Given the description of an element on the screen output the (x, y) to click on. 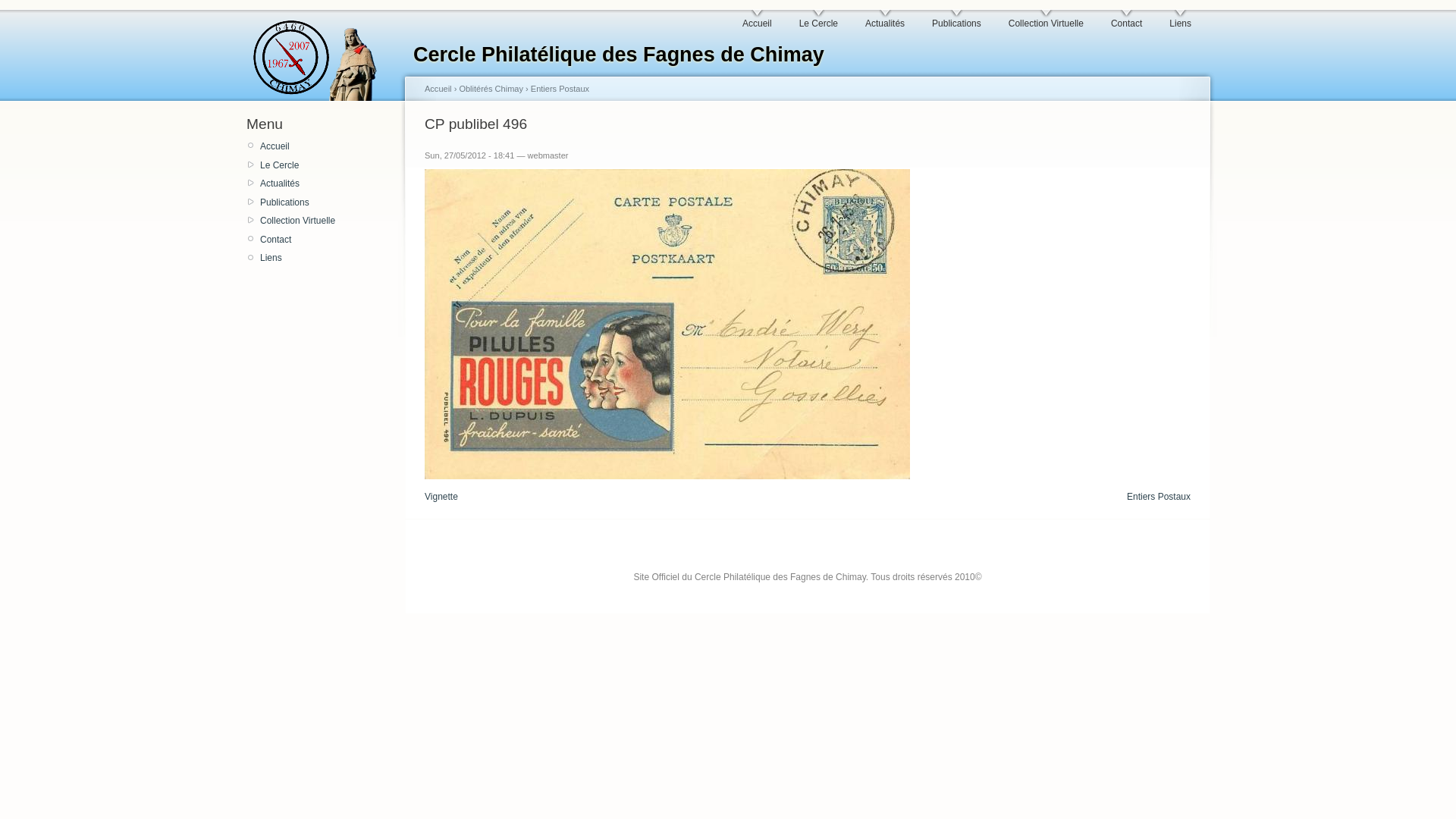
Contact Element type: text (1126, 20)
Collection Virtuelle Element type: text (327, 220)
Liens Element type: text (327, 257)
Liens Element type: text (1180, 20)
Le Cercle Element type: text (327, 164)
Collection Virtuelle Element type: text (1045, 20)
Publications Element type: text (327, 202)
Accueil Element type: text (327, 145)
Contact Element type: text (327, 239)
Entiers Postaux Element type: text (1158, 496)
CP publibel 496 Element type: hover (667, 324)
Entiers Postaux Element type: text (559, 88)
Accueil Element type: text (756, 20)
Le Cercle Element type: text (818, 20)
Vignette Element type: text (441, 496)
Publications Element type: text (956, 20)
Accueil Element type: text (437, 88)
